Given the description of an element on the screen output the (x, y) to click on. 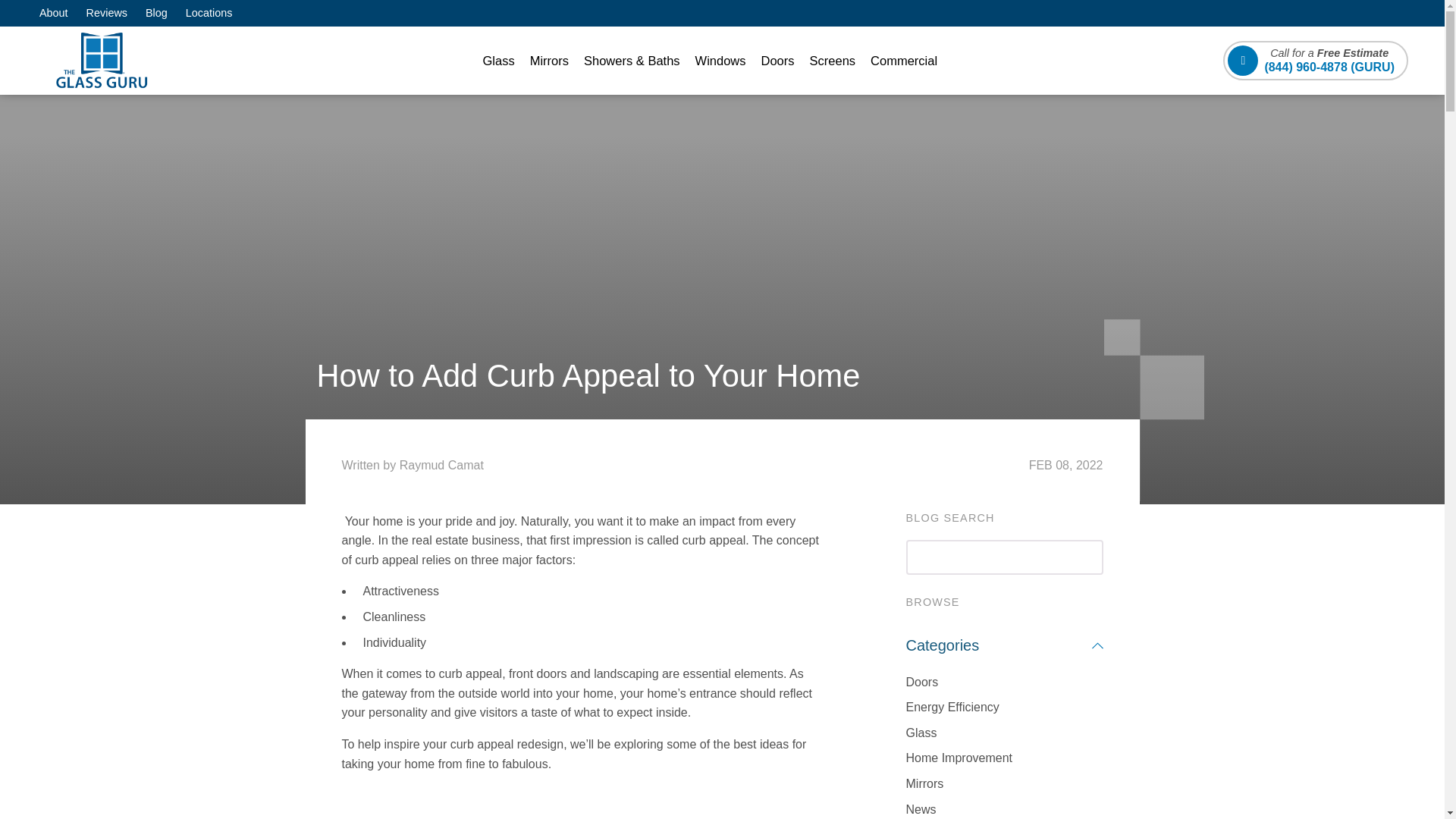
About (53, 12)
Blog (156, 12)
Blog Search (1003, 556)
Reviews (106, 12)
Commercial Glass (903, 60)
Locations (209, 12)
